Given the description of an element on the screen output the (x, y) to click on. 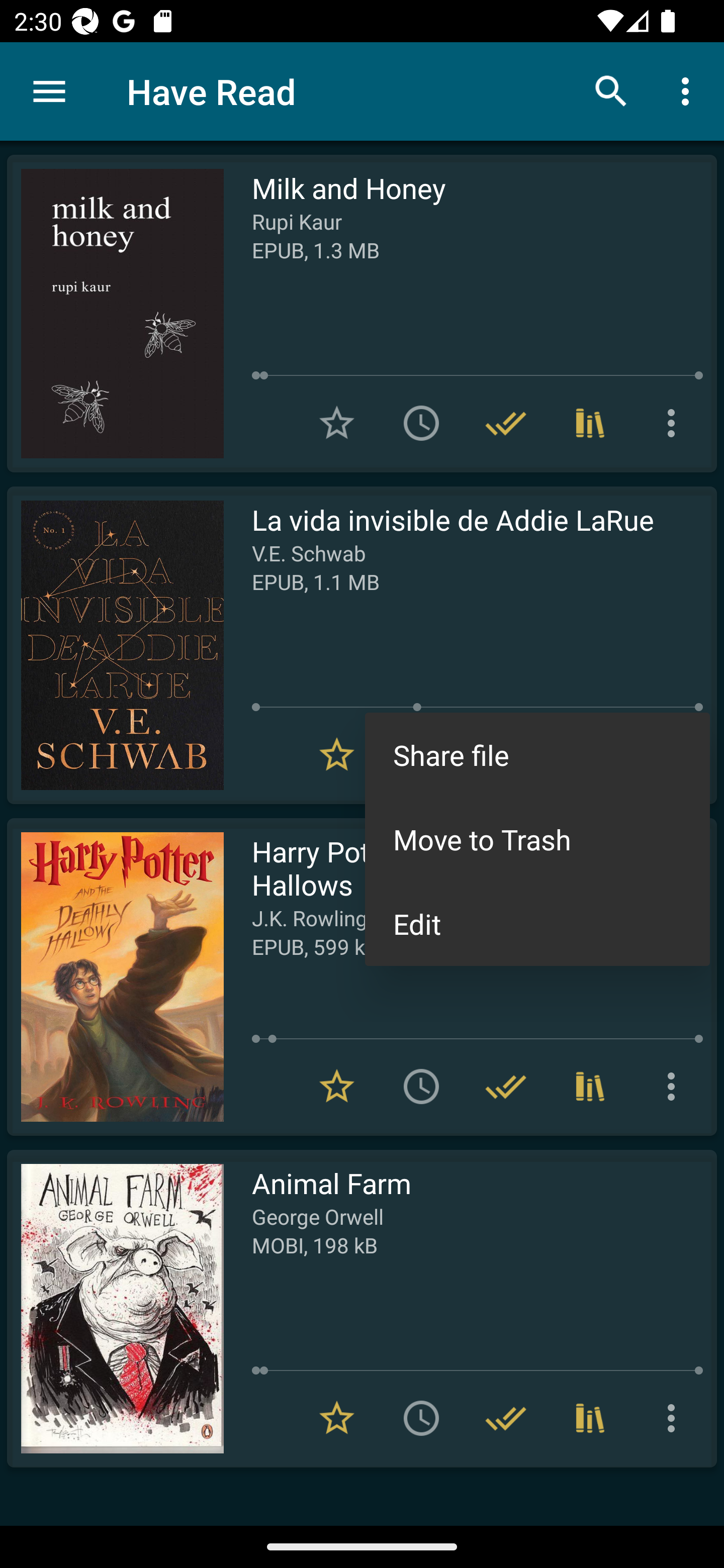
Share file (537, 753)
Move to Trash (537, 838)
Edit (537, 923)
